Given the description of an element on the screen output the (x, y) to click on. 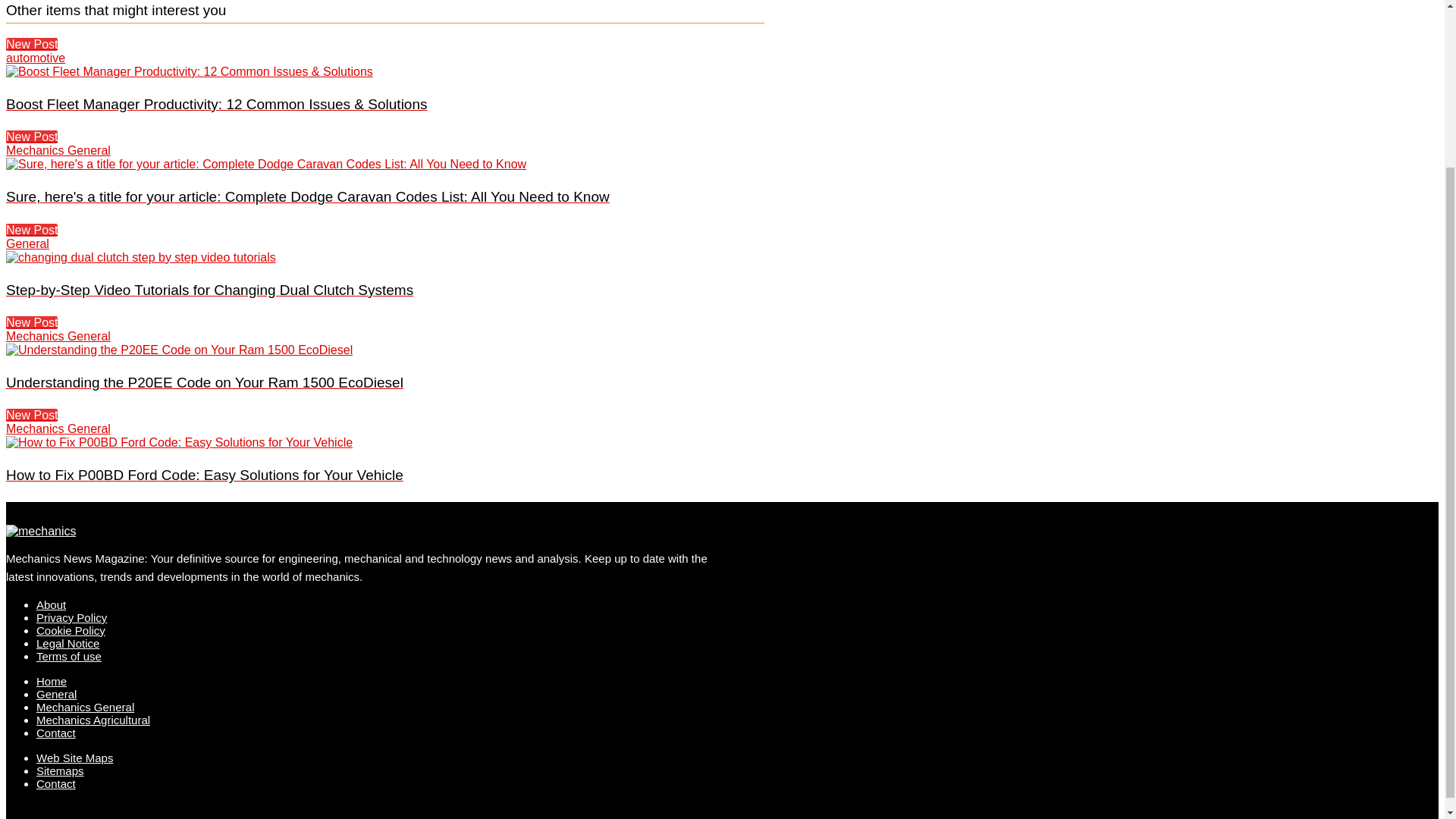
Understanding the P20EE Code on Your Ram 1500 EcoDiesel (178, 350)
Terms of use (68, 656)
Mechanics General (84, 707)
General (56, 694)
Web Site Maps (74, 757)
Cookie Policy (70, 630)
Home (51, 680)
Legal Notice (67, 643)
Sitemaps (60, 770)
Privacy Policy (71, 617)
Mechanics Agricultural (92, 719)
